Given the description of an element on the screen output the (x, y) to click on. 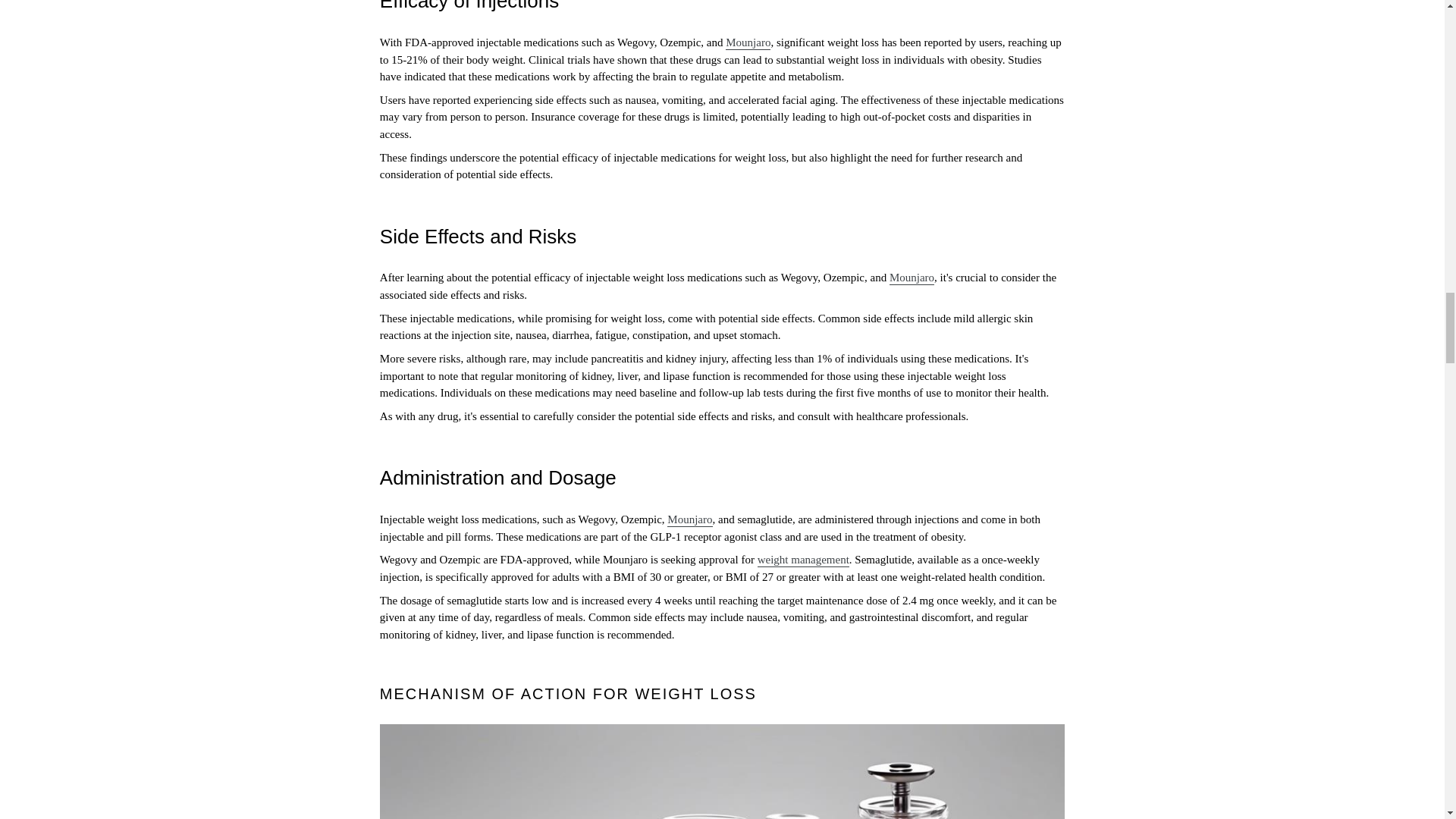
Mounjaro (911, 278)
weight management (802, 560)
Mounjaro (688, 520)
Mounjaro (747, 42)
